Given the description of an element on the screen output the (x, y) to click on. 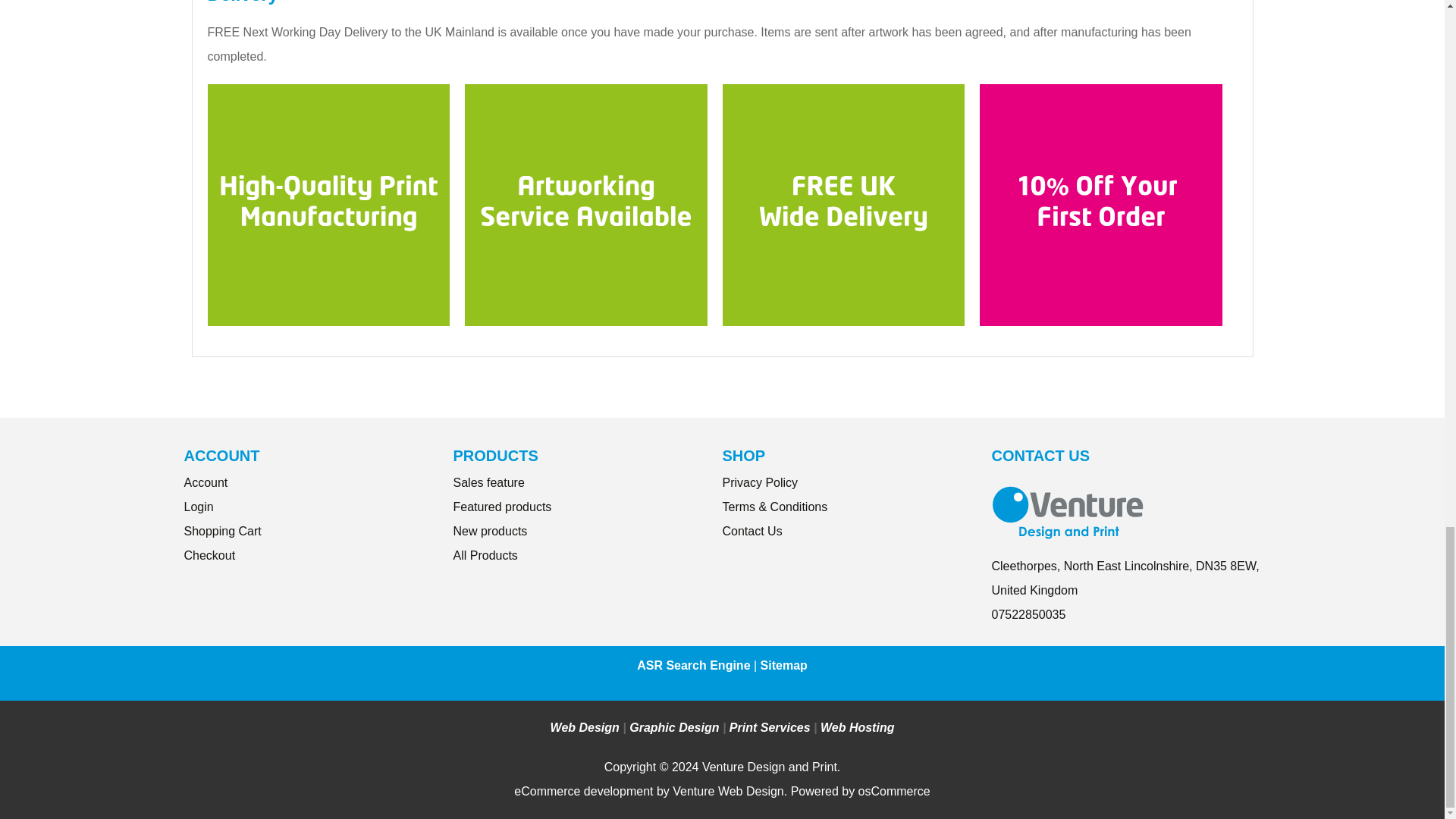
Account (205, 481)
All Products (485, 554)
Shopping Cart (221, 530)
Featured products (501, 506)
Free Uk Delivery on All Print (842, 204)
Print Services (769, 727)
Checkout (208, 554)
Print Artworking and Design Services (585, 204)
Sales feature (488, 481)
High-Quality Print Manufacturing (328, 204)
Sitemap (784, 665)
Web Hosting (857, 727)
New products (489, 530)
Web Design (585, 727)
Login (197, 506)
